Given the description of an element on the screen output the (x, y) to click on. 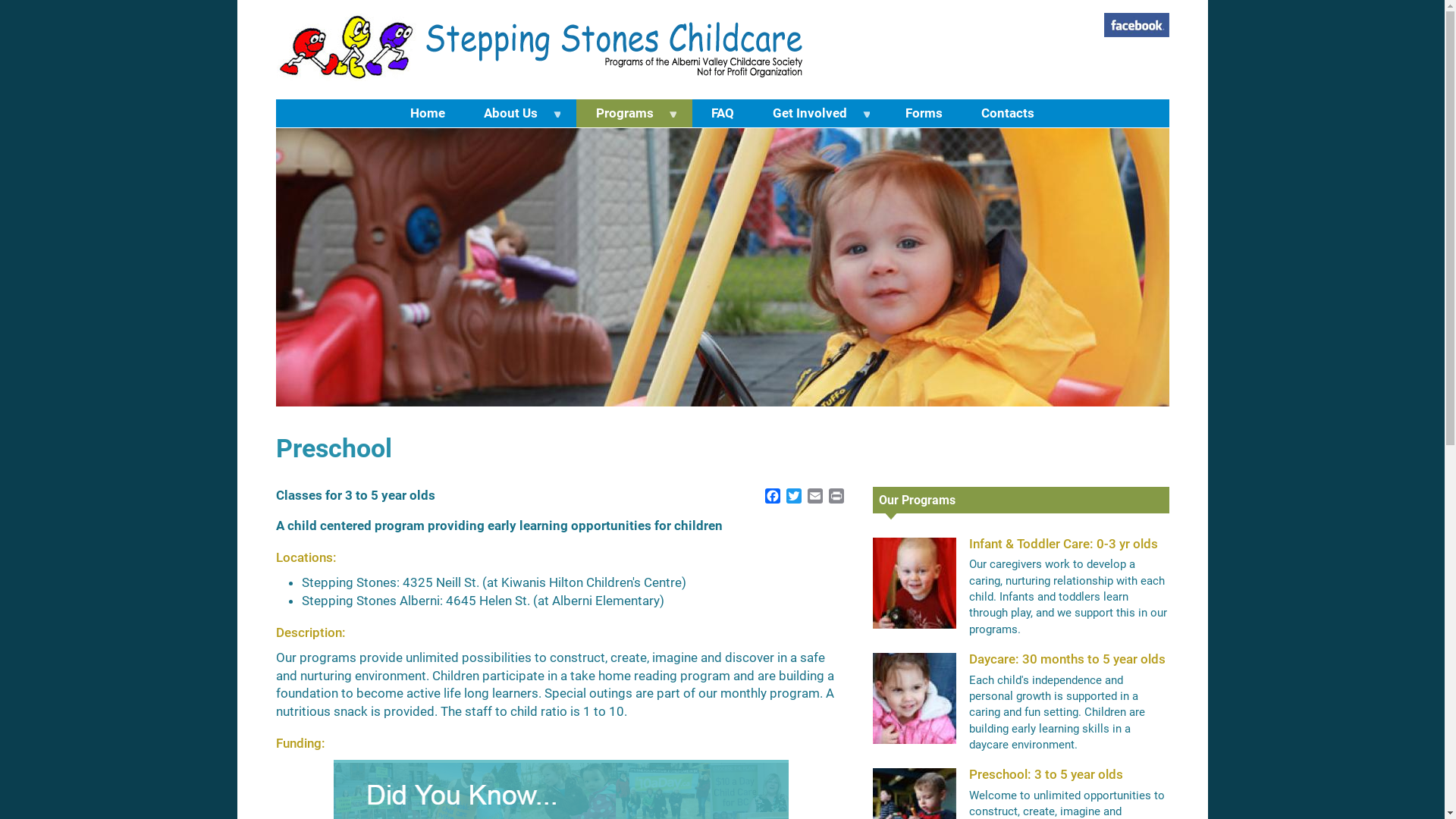
Infant & Toddler Care: 0-3 yr olds Element type: text (1063, 543)
Forms Element type: text (923, 113)
Skip to main content Element type: text (0, 0)
Home Element type: text (427, 113)
Home Element type: hover (541, 49)
Daycare: 30 months to 5 year olds Element type: text (1067, 658)
Follow link to follow us on Facebook Element type: hover (1136, 24)
Email Element type: text (814, 496)
FAQ Element type: text (722, 113)
Contacts Element type: text (1007, 113)
Twitter Element type: text (792, 496)
Print Element type: text (835, 496)
Facebook Element type: text (771, 496)
Preschool: 3 to 5 year olds Element type: text (1046, 774)
